Given the description of an element on the screen output the (x, y) to click on. 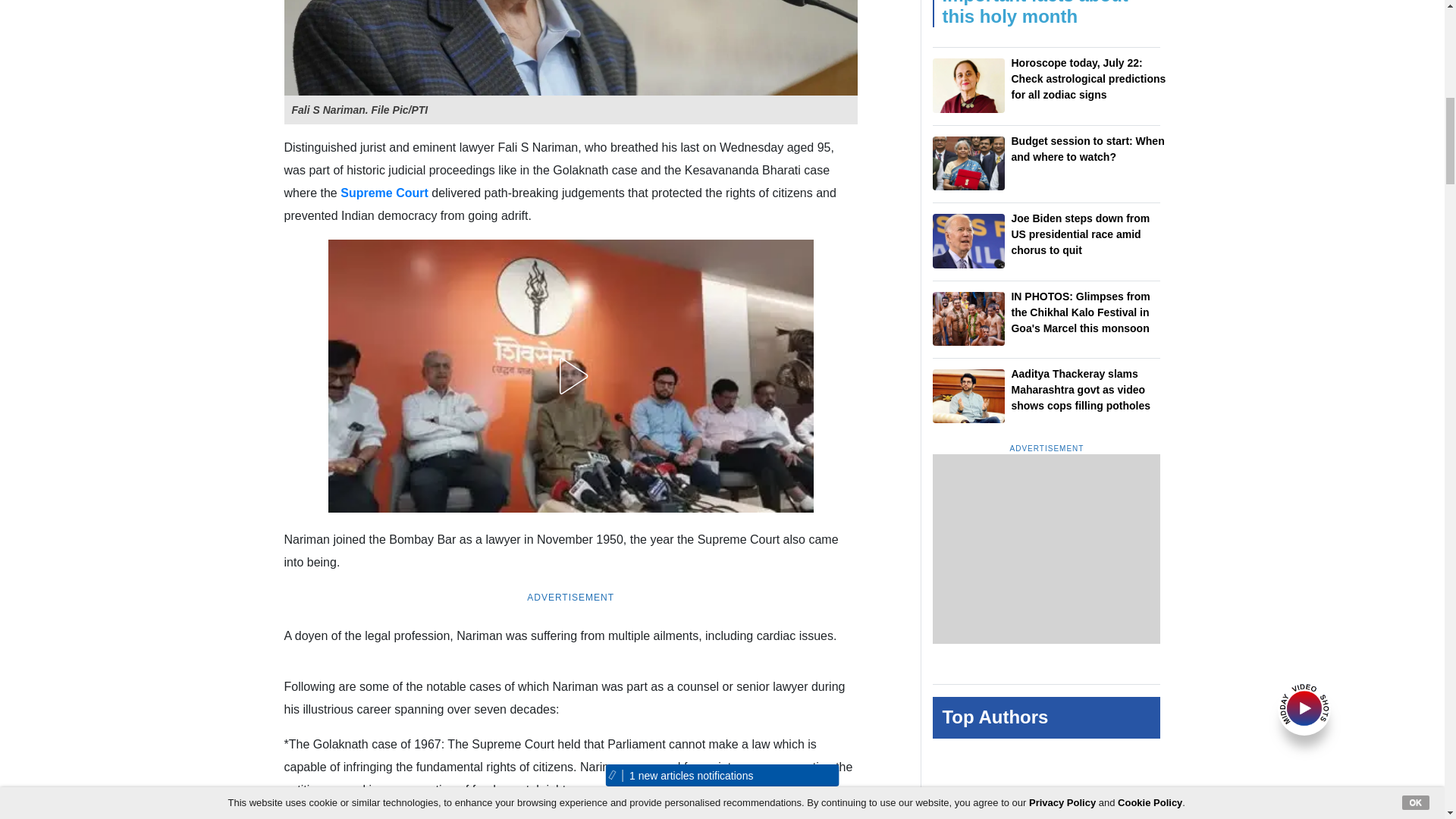
Budget session to start: When and where to watch? (968, 163)
